Given the description of an element on the screen output the (x, y) to click on. 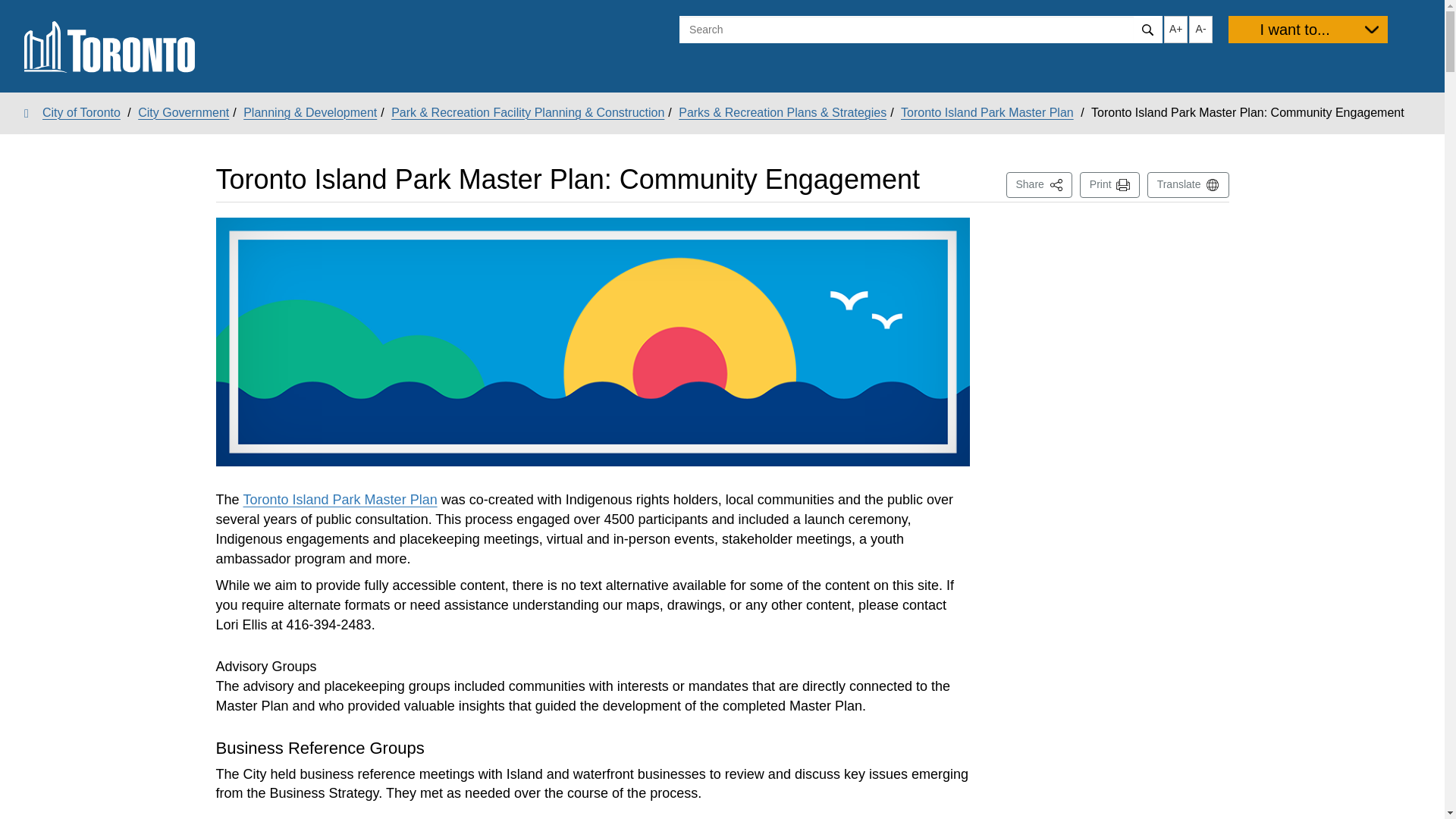
Increase text size (1175, 29)
Print (1110, 184)
Skip to content (11, 11)
Toronto Island Park Master Plan (340, 499)
I want to... (1307, 29)
City of Toronto (72, 112)
Translate (1187, 184)
Toronto Island Park Master Plan (1038, 184)
City Government (987, 112)
